Given the description of an element on the screen output the (x, y) to click on. 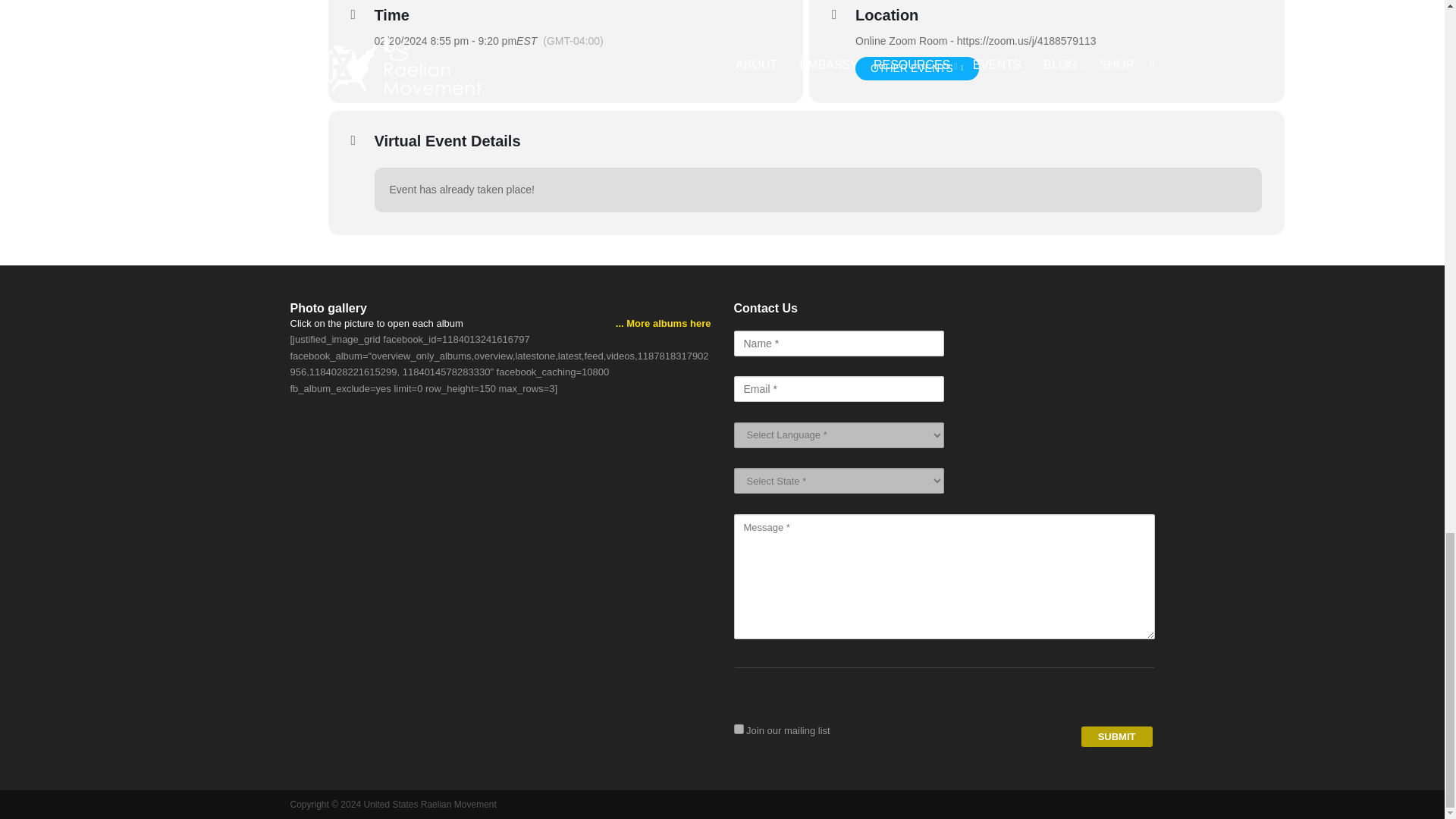
Submit (738, 728)
